Given the description of an element on the screen output the (x, y) to click on. 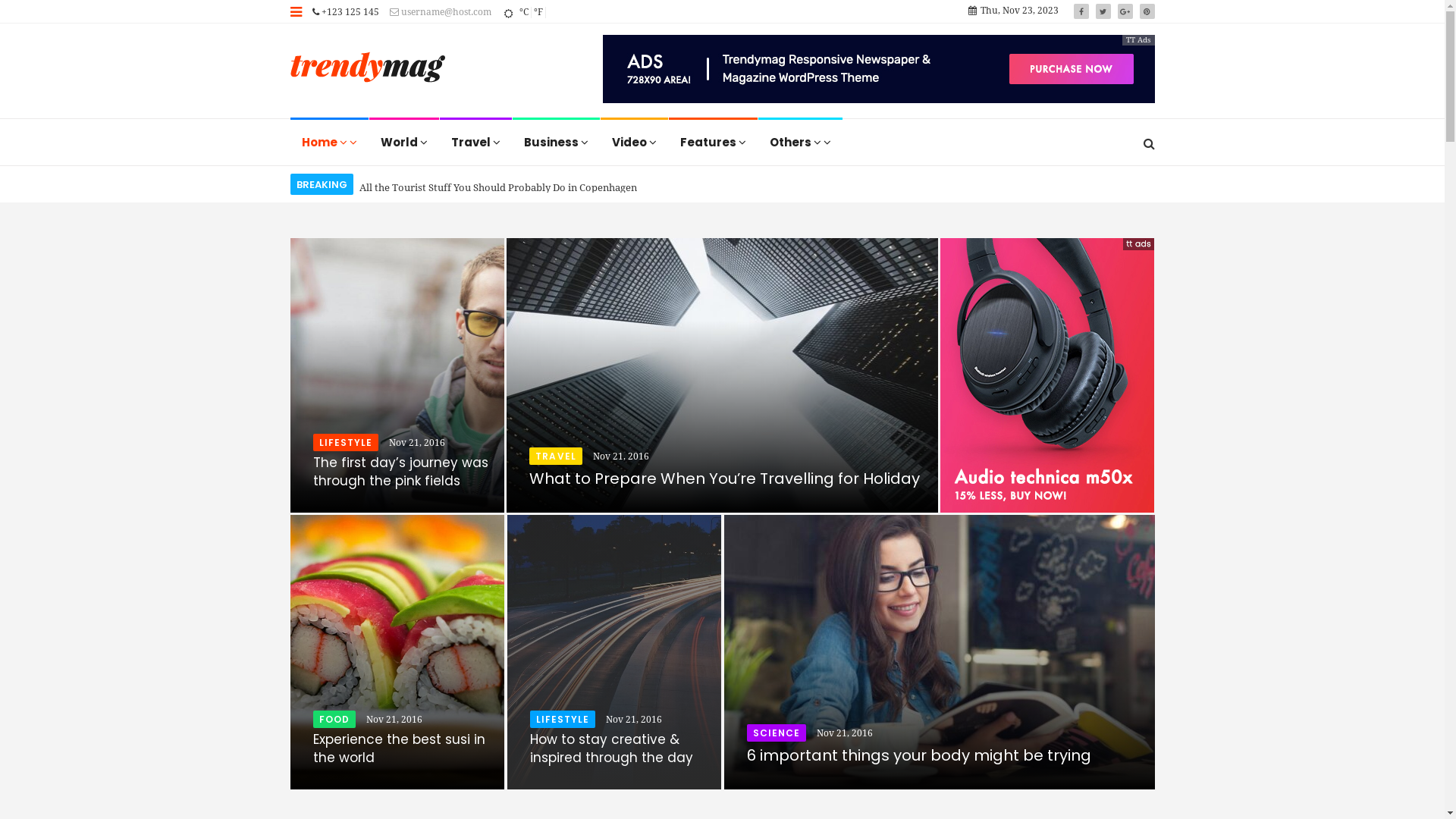
Features Element type: text (712, 142)
Experience the best susi in the world Element type: text (398, 748)
Meander Valley Community Directory Element type: hover (366, 68)
Others Element type: text (799, 142)
Home Element type: text (329, 142)
SCIENCE Element type: text (776, 732)
Travel Element type: text (474, 142)
World Element type: text (403, 142)
How to stay creative & inspired through the day Element type: text (610, 748)
6 important things your body might be trying Element type: text (918, 754)
Nikon announces midrange D7500 DSLR Element type: text (452, 184)
username@host.com Element type: text (440, 11)
TRAVEL Element type: text (555, 455)
Business Element type: text (555, 142)
Video Element type: text (633, 142)
LIFESTYLE Element type: text (562, 719)
FOOD Element type: text (333, 719)
LIFESTYLE Element type: text (345, 442)
